Given the description of an element on the screen output the (x, y) to click on. 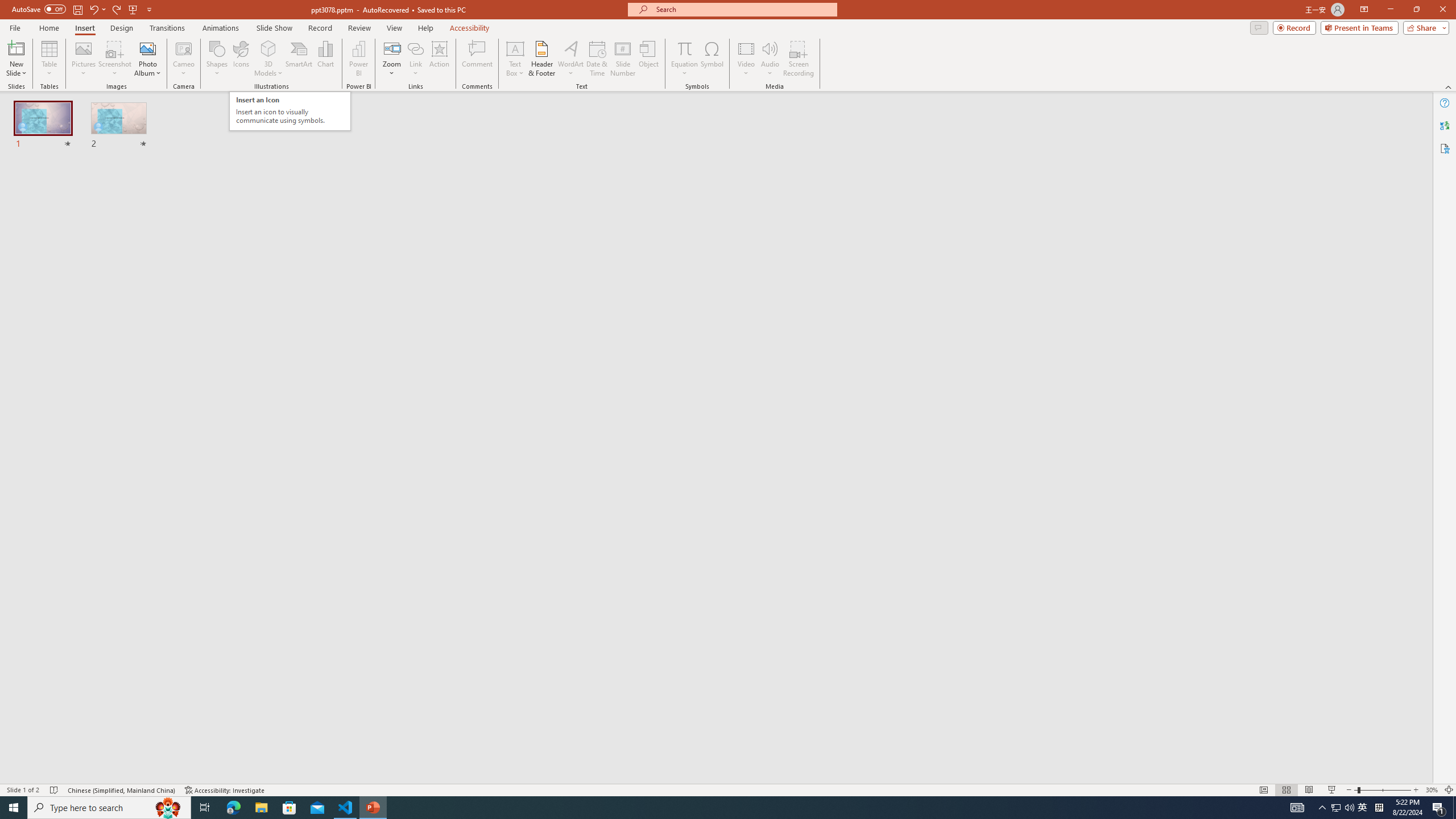
Object... (649, 58)
Link (415, 48)
Photo Album... (147, 58)
